Given the description of an element on the screen output the (x, y) to click on. 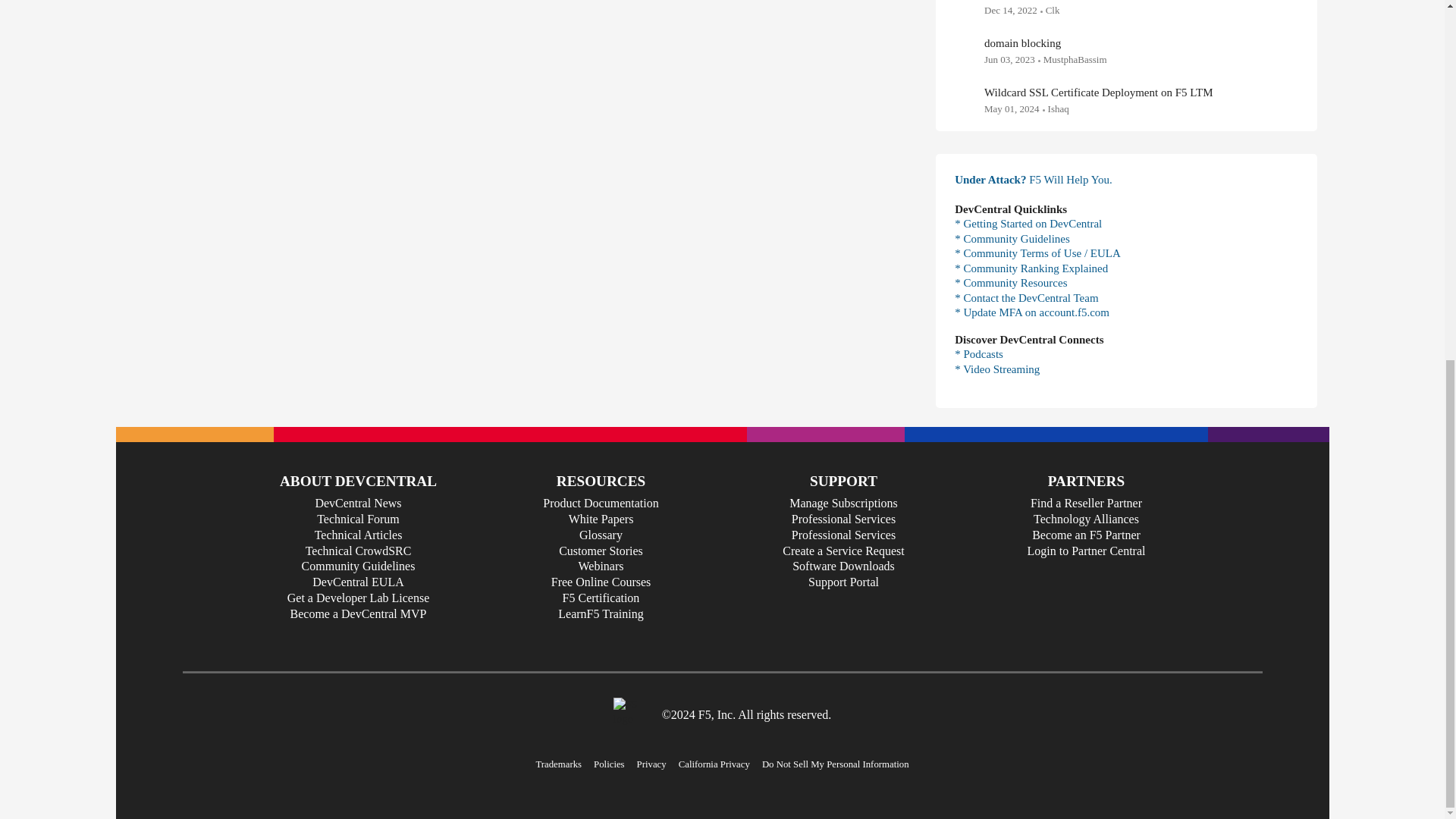
December 14, 2022 at 1:03 PM (1010, 9)
domain blocking (1022, 42)
